Given the description of an element on the screen output the (x, y) to click on. 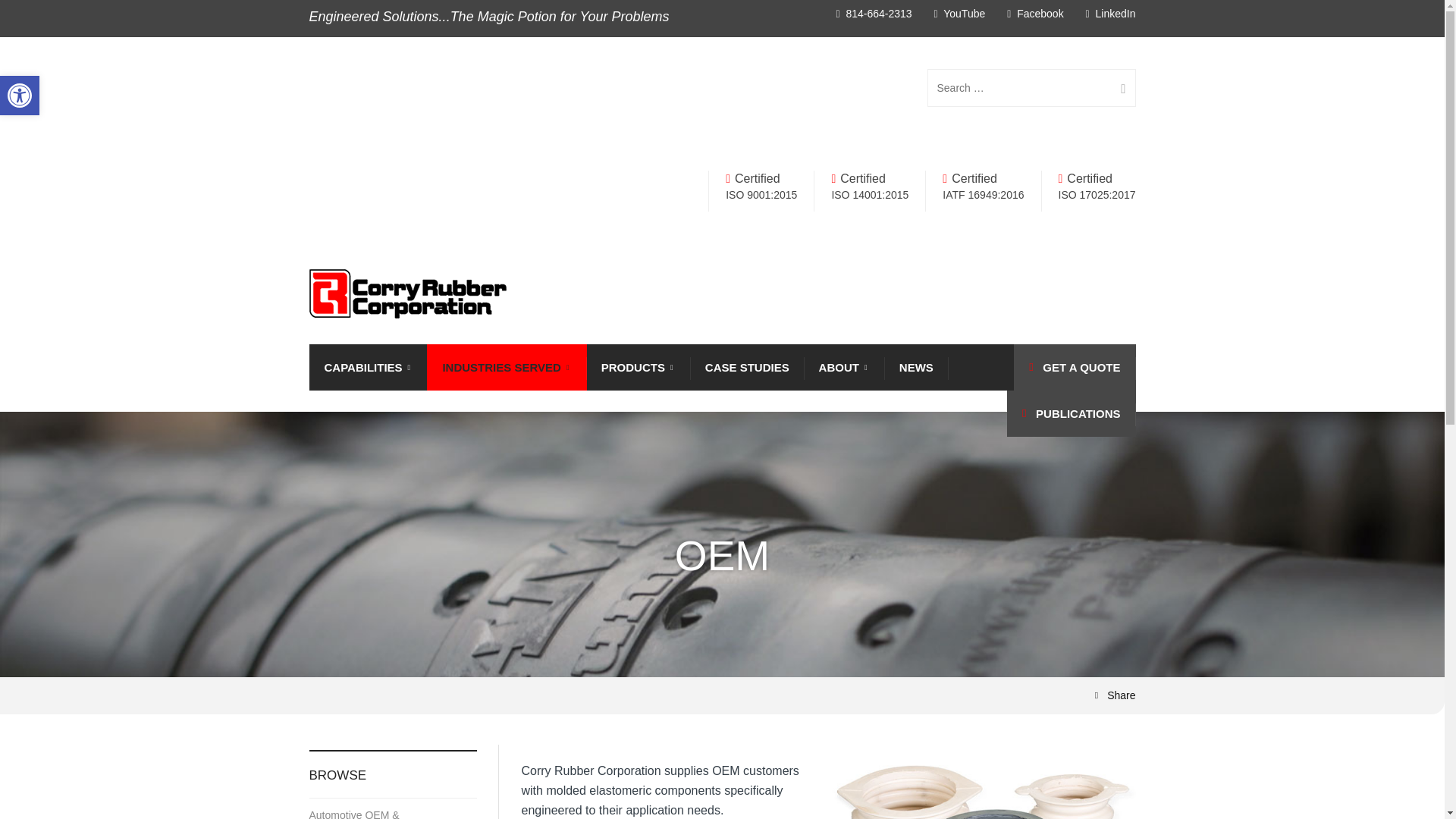
ISO 9001:2015 (760, 194)
IATF 16949:2016 (982, 194)
LinkedIn (1110, 13)
Search (1117, 88)
ISO 14001:2015 (869, 194)
Accessibility Tools (19, 95)
Search (1117, 88)
CAPABILITIES (368, 366)
ISO 17025:2017 (1096, 194)
YouTube (959, 13)
